Given the description of an element on the screen output the (x, y) to click on. 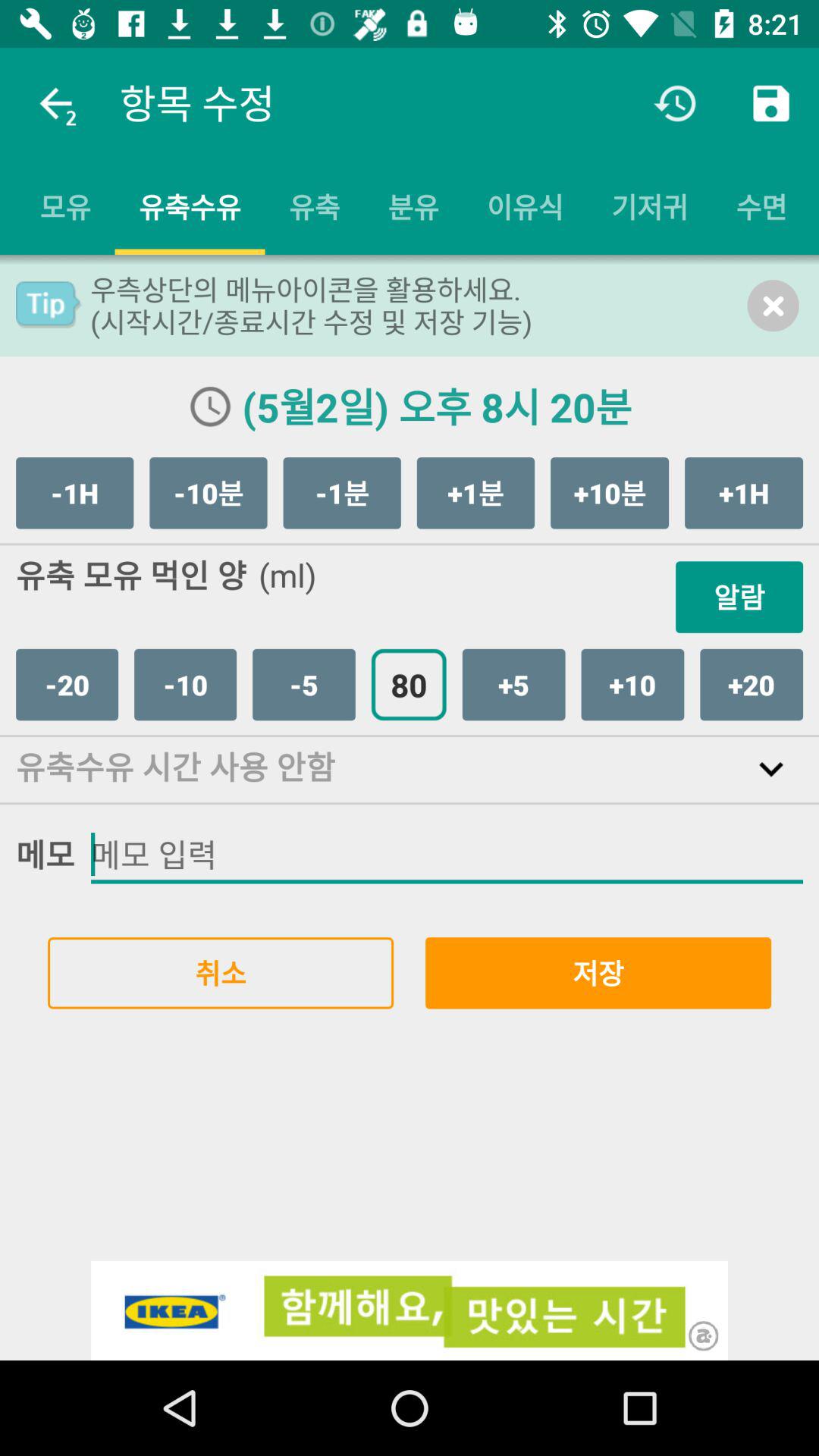
turn off the item next to -1h icon (208, 492)
